Given the description of an element on the screen output the (x, y) to click on. 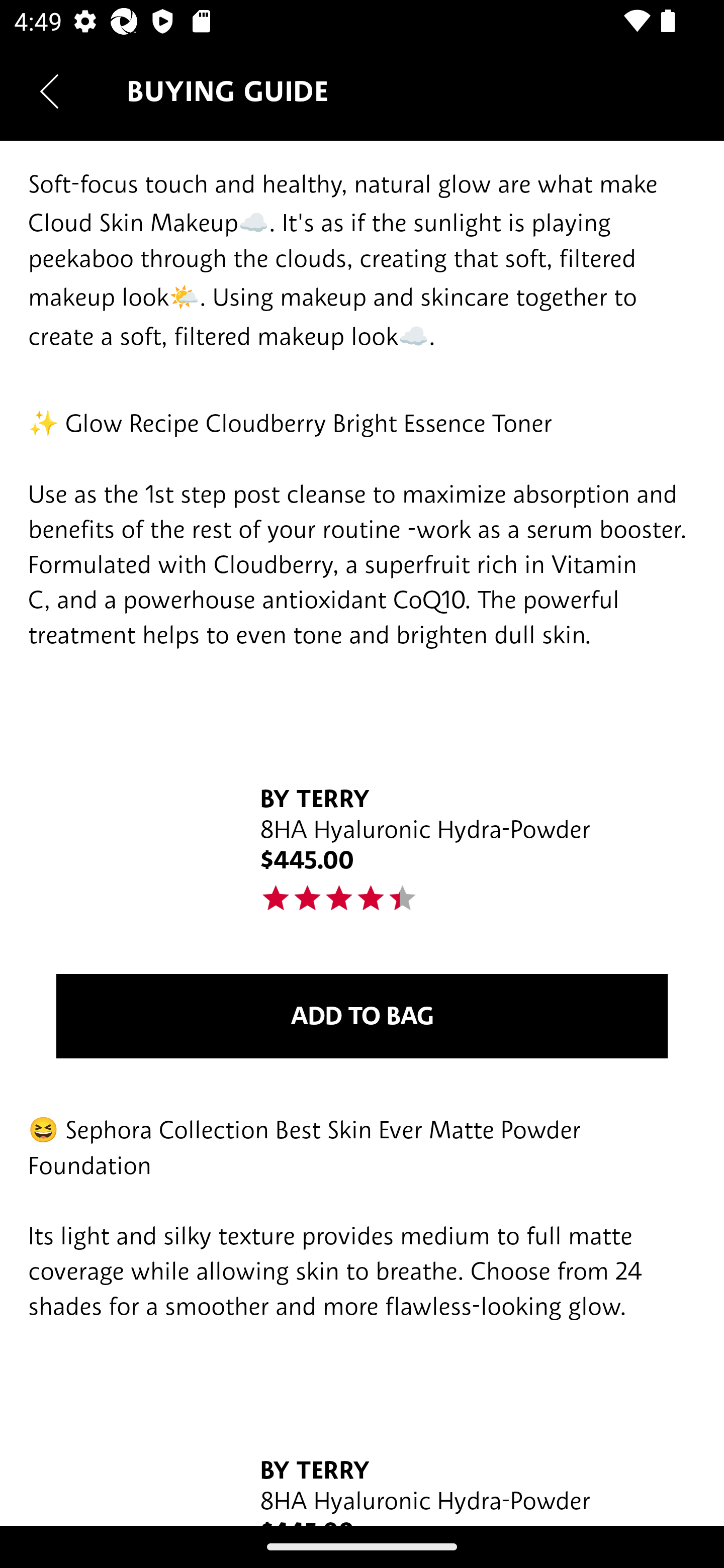
Navigate up (49, 91)
ADD TO BAG (361, 1015)
BY TERRY 8HA Hyaluronic Hydra-Powder $445.00 (362, 1458)
